Given the description of an element on the screen output the (x, y) to click on. 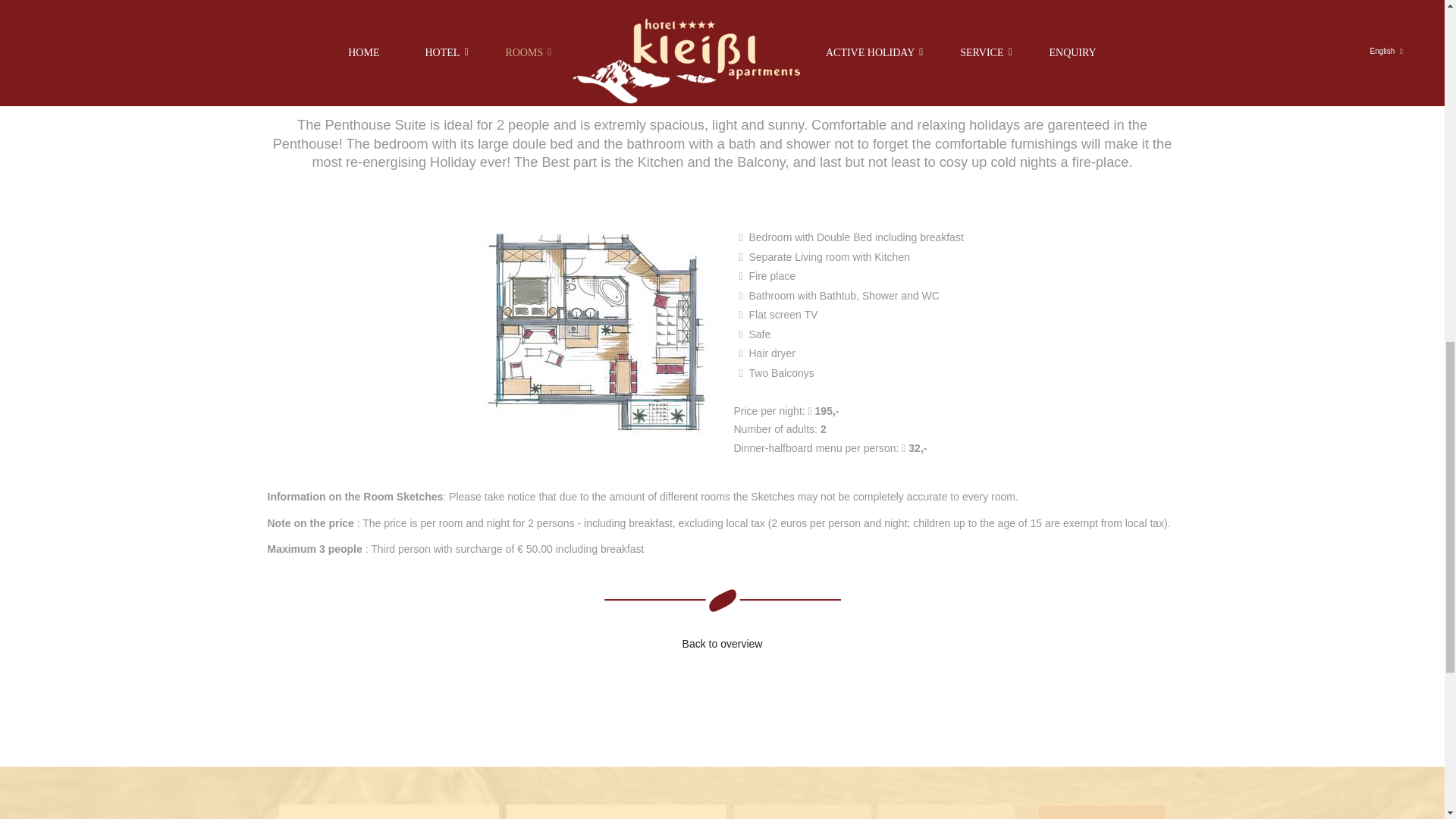
Inquiries (1101, 811)
